Given the description of an element on the screen output the (x, y) to click on. 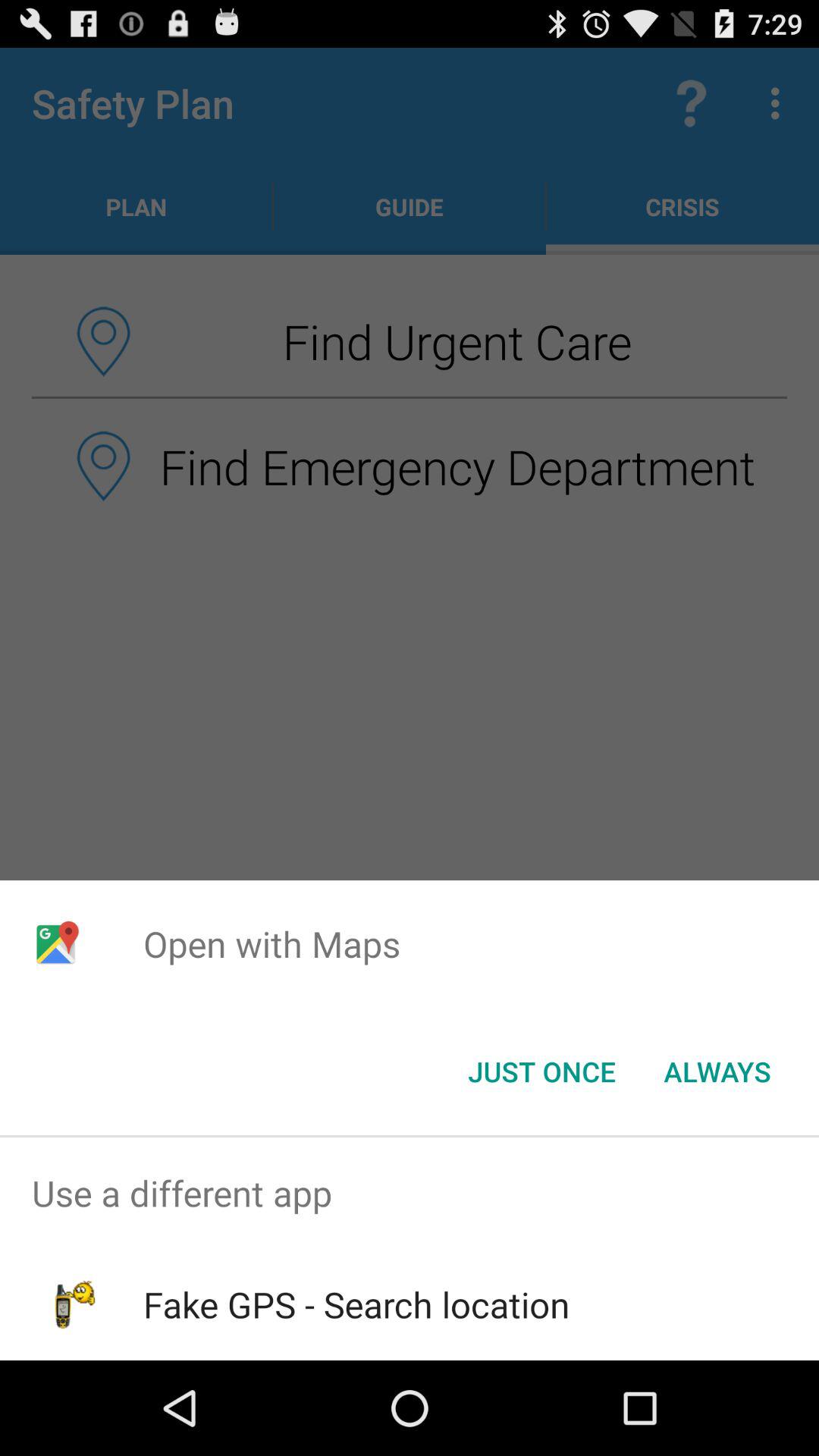
turn off app below use a different app (356, 1304)
